Given the description of an element on the screen output the (x, y) to click on. 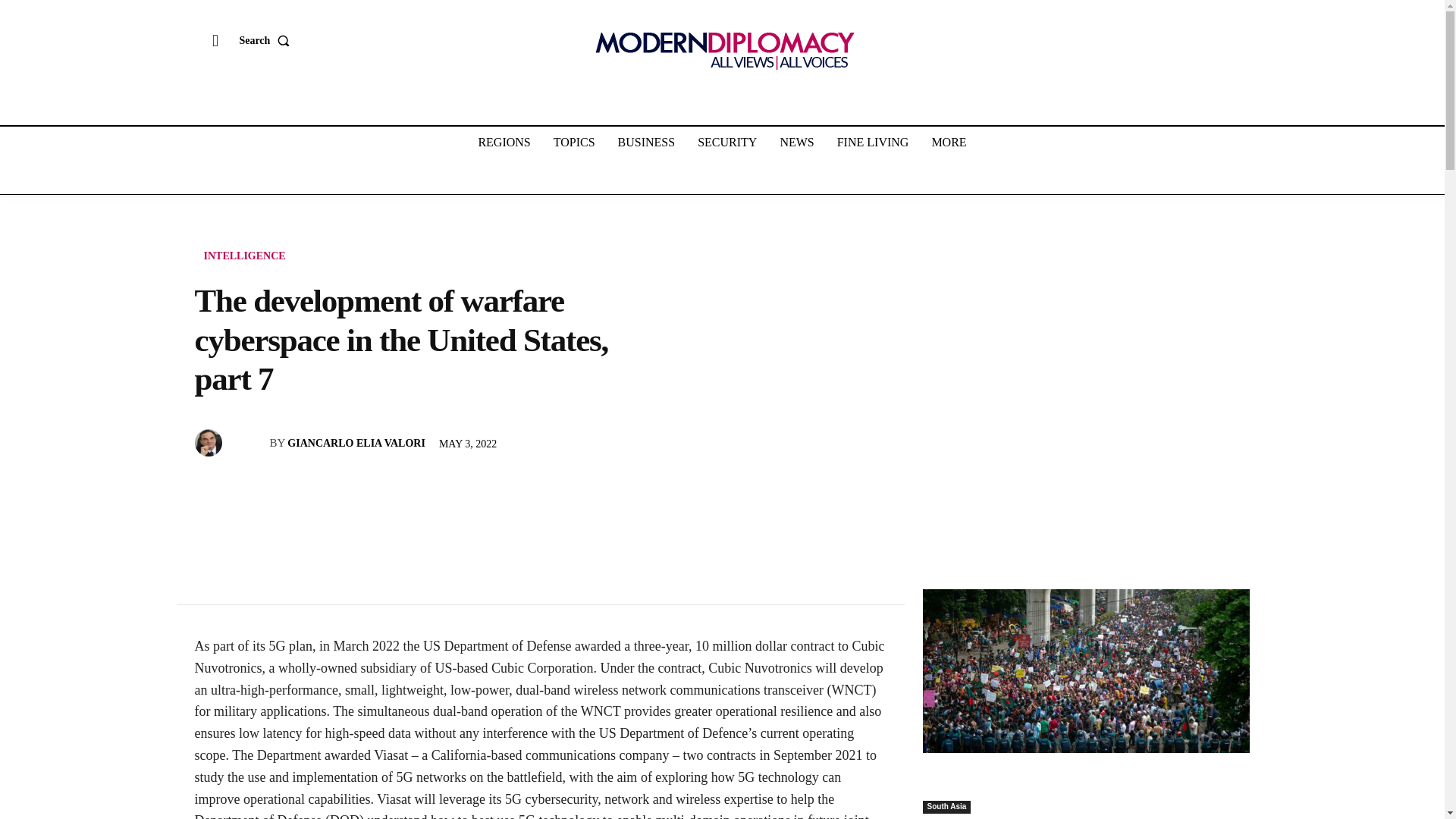
Giancarlo Elia Valori (209, 442)
